Given the description of an element on the screen output the (x, y) to click on. 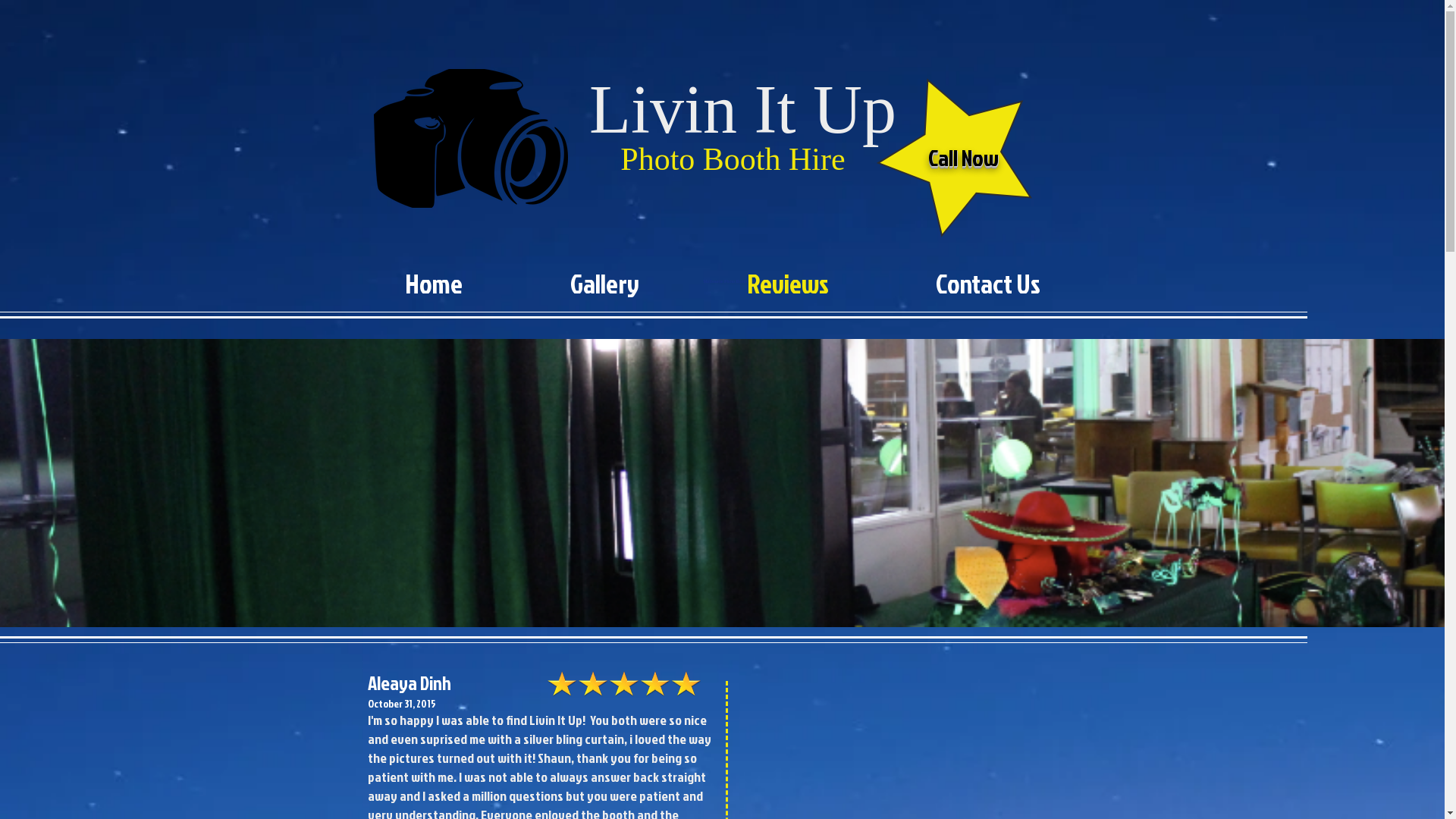
Contact Us Element type: text (988, 277)
Home Element type: text (432, 277)
Gallery Element type: text (603, 277)
Aleaya Dinh Element type: text (408, 682)
Reviews Element type: text (787, 277)
October 31, 2015 Element type: text (401, 703)
